Given the description of an element on the screen output the (x, y) to click on. 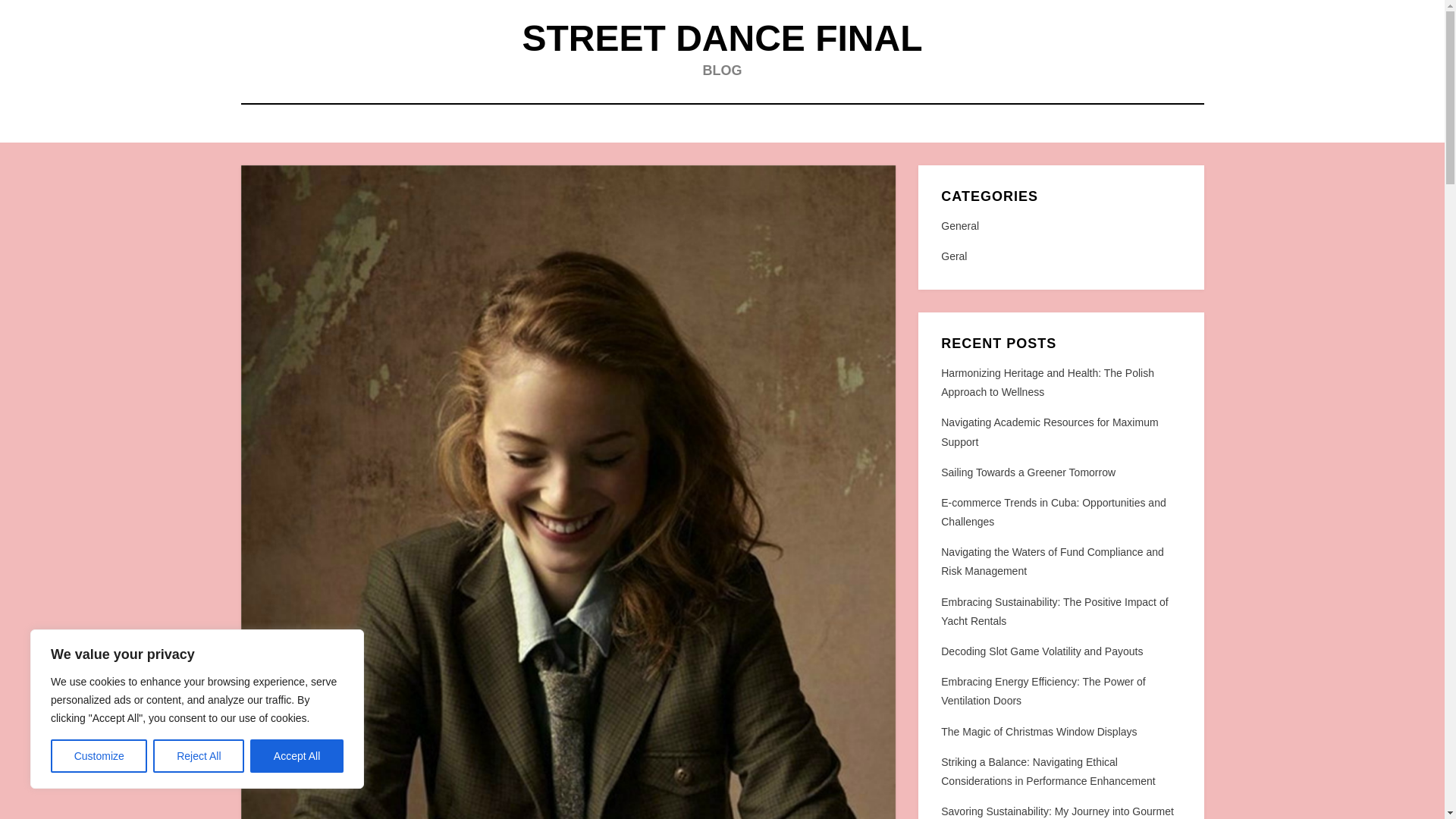
Street Dance Final (721, 38)
STREET DANCE FINAL (721, 38)
Reject All (198, 756)
E-commerce Trends in Cuba: Opportunities and Challenges (1053, 511)
Navigating the Waters of Fund Compliance and Risk Management (1051, 561)
Navigating Academic Resources for Maximum Support (1048, 431)
General (1060, 226)
Geral (1060, 256)
